Given the description of an element on the screen output the (x, y) to click on. 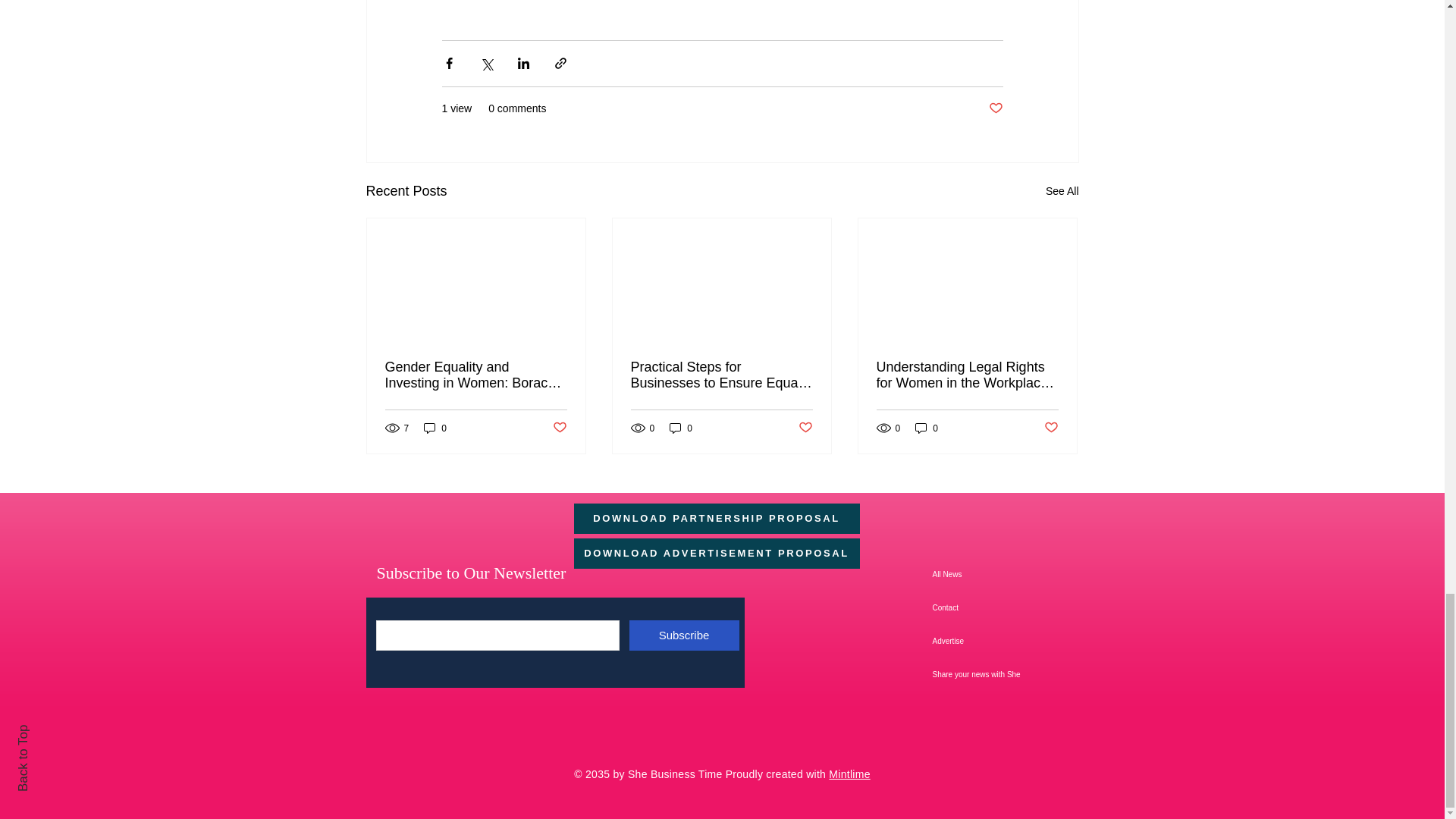
0 (681, 427)
0 (435, 427)
Practical Steps for Businesses to Ensure Equal Pay (721, 375)
Post not marked as liked (558, 427)
See All (1061, 191)
Post not marked as liked (995, 108)
